Given the description of an element on the screen output the (x, y) to click on. 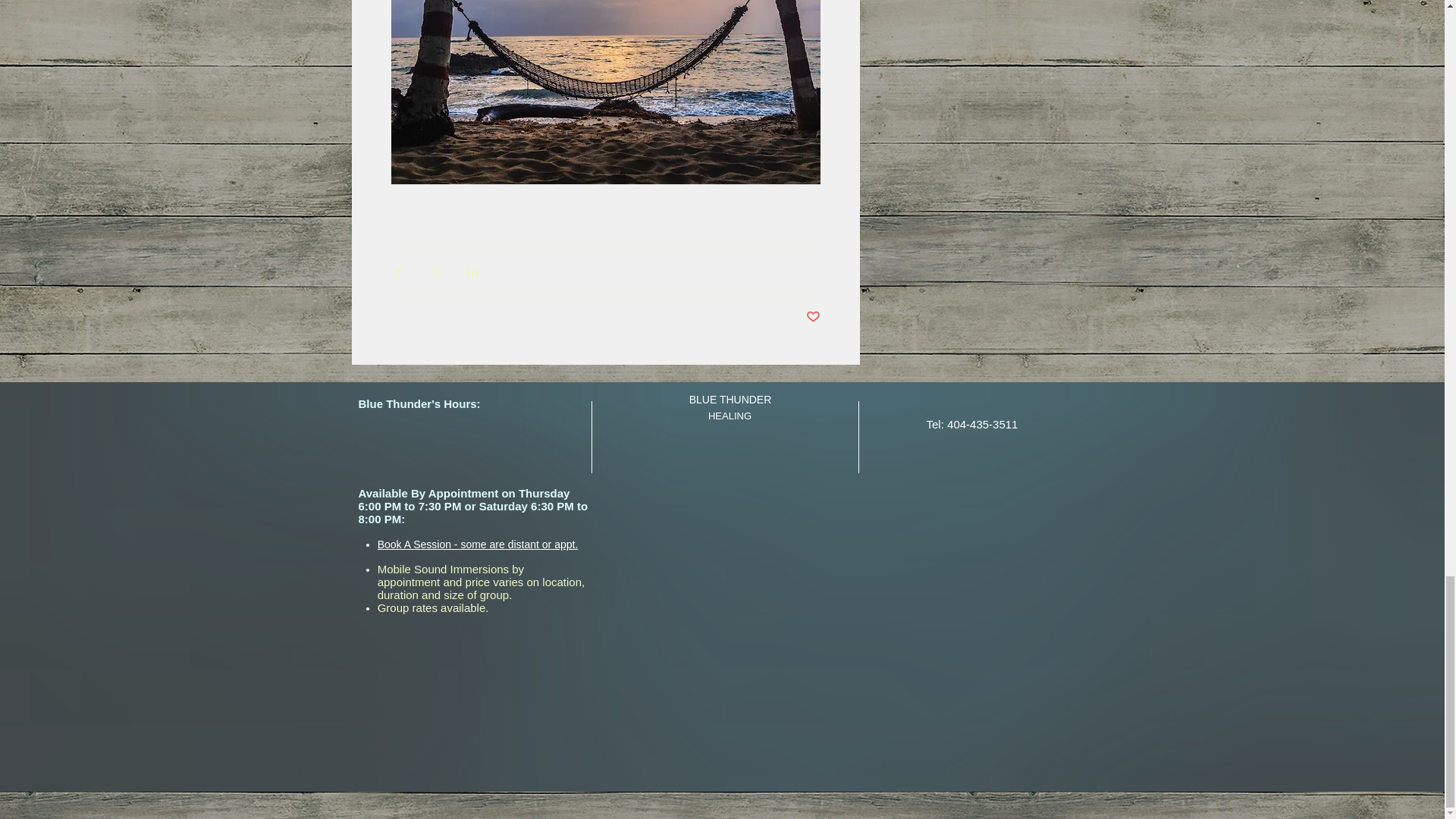
Post not marked as liked (812, 316)
